Given the description of an element on the screen output the (x, y) to click on. 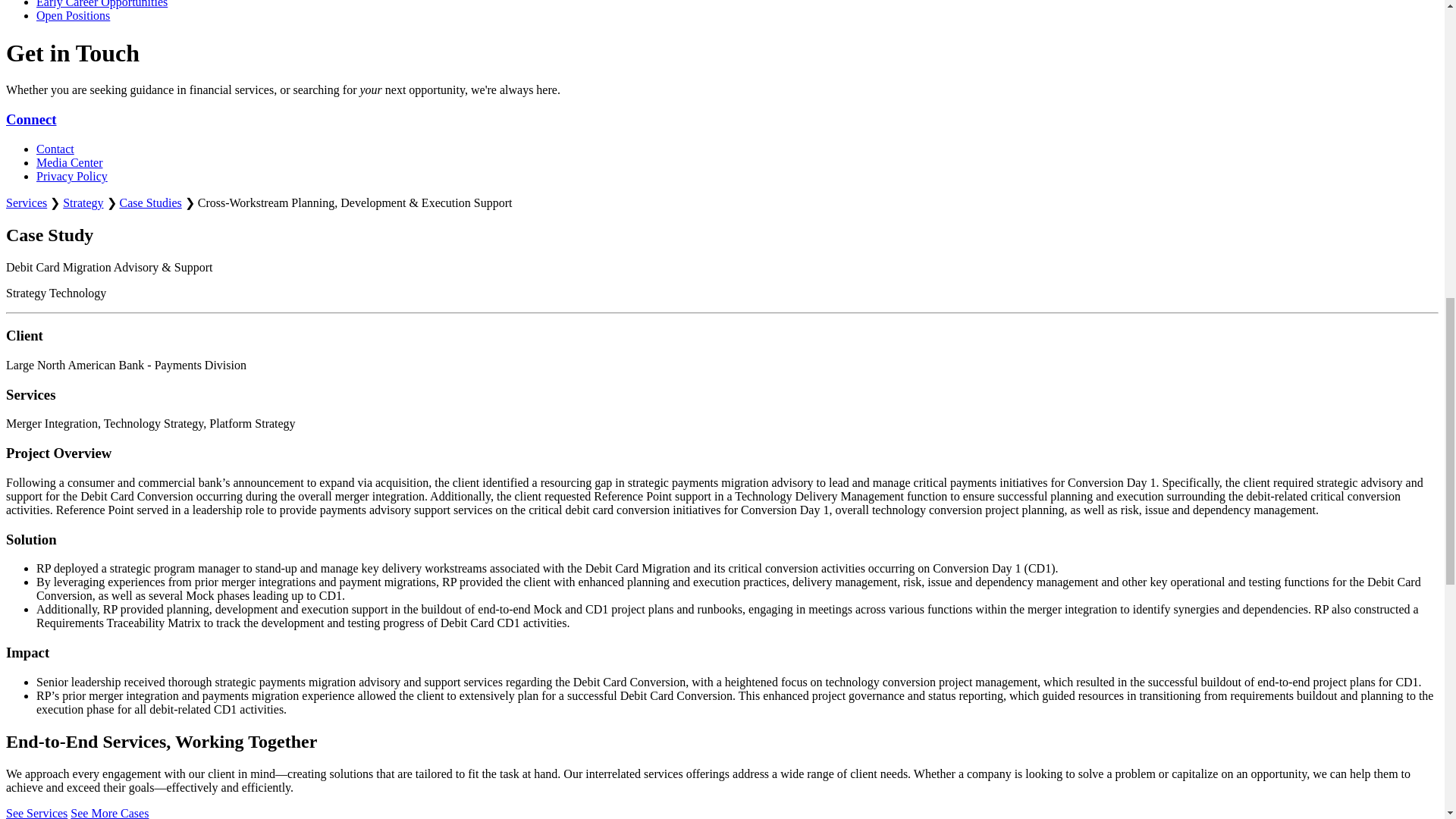
Open Positions (73, 15)
Services (25, 202)
Case Studies (150, 202)
See Services (35, 812)
Media Center (69, 162)
Early Career Opportunities (101, 4)
Privacy Policy (71, 175)
Connect (30, 119)
See More Cases (108, 812)
Strategy (82, 202)
Contact (55, 148)
